Given the description of an element on the screen output the (x, y) to click on. 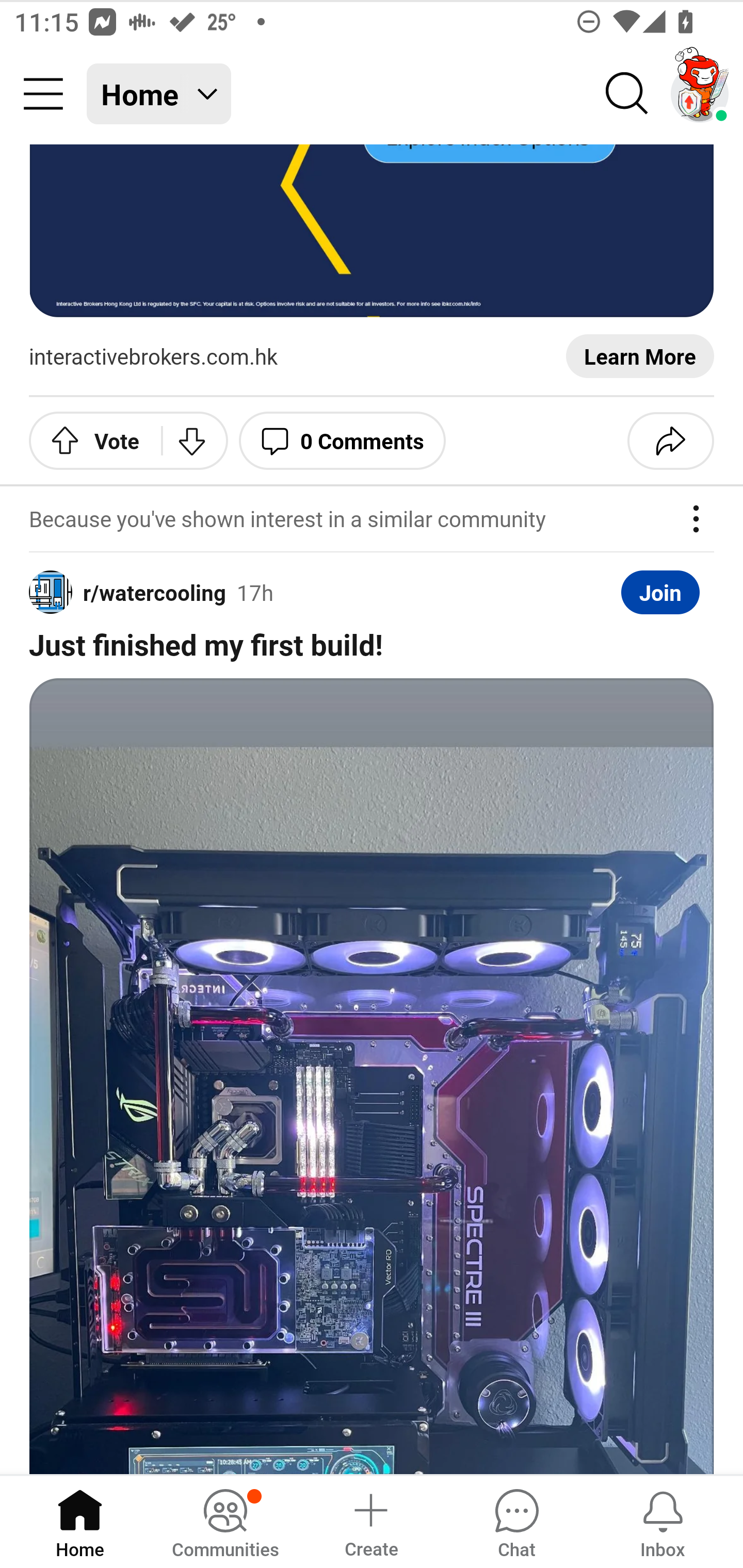
Community menu (43, 93)
Home Home feed (158, 93)
Search (626, 93)
TestAppium002 account (699, 93)
1 of 2, Image, In Image gallery (371, 1075)
Home (80, 1520)
Communities, has notifications Communities (225, 1520)
Create a post Create (370, 1520)
Chat (516, 1520)
Inbox (662, 1520)
